Given the description of an element on the screen output the (x, y) to click on. 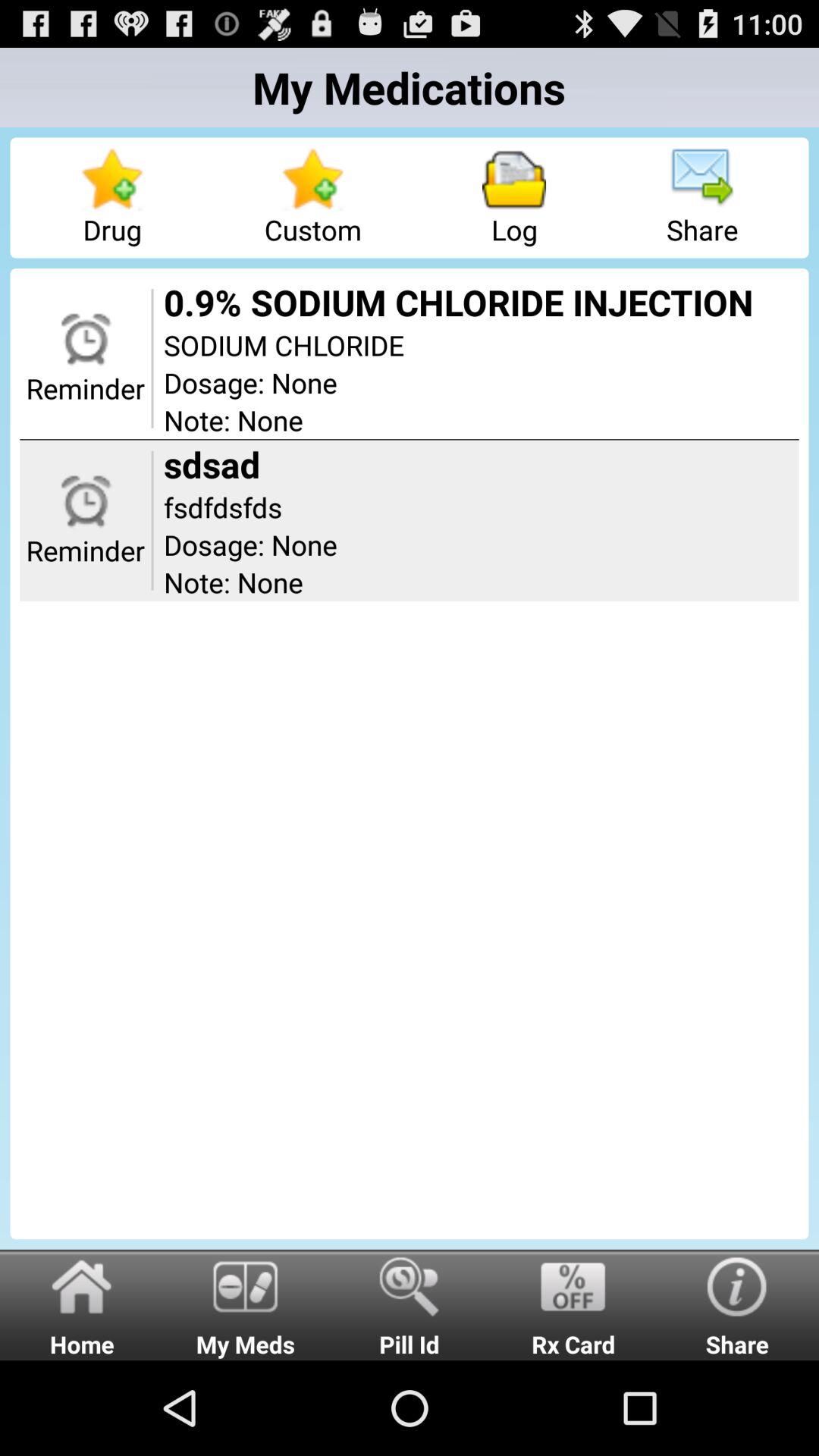
scroll to the my meds (245, 1304)
